Given the description of an element on the screen output the (x, y) to click on. 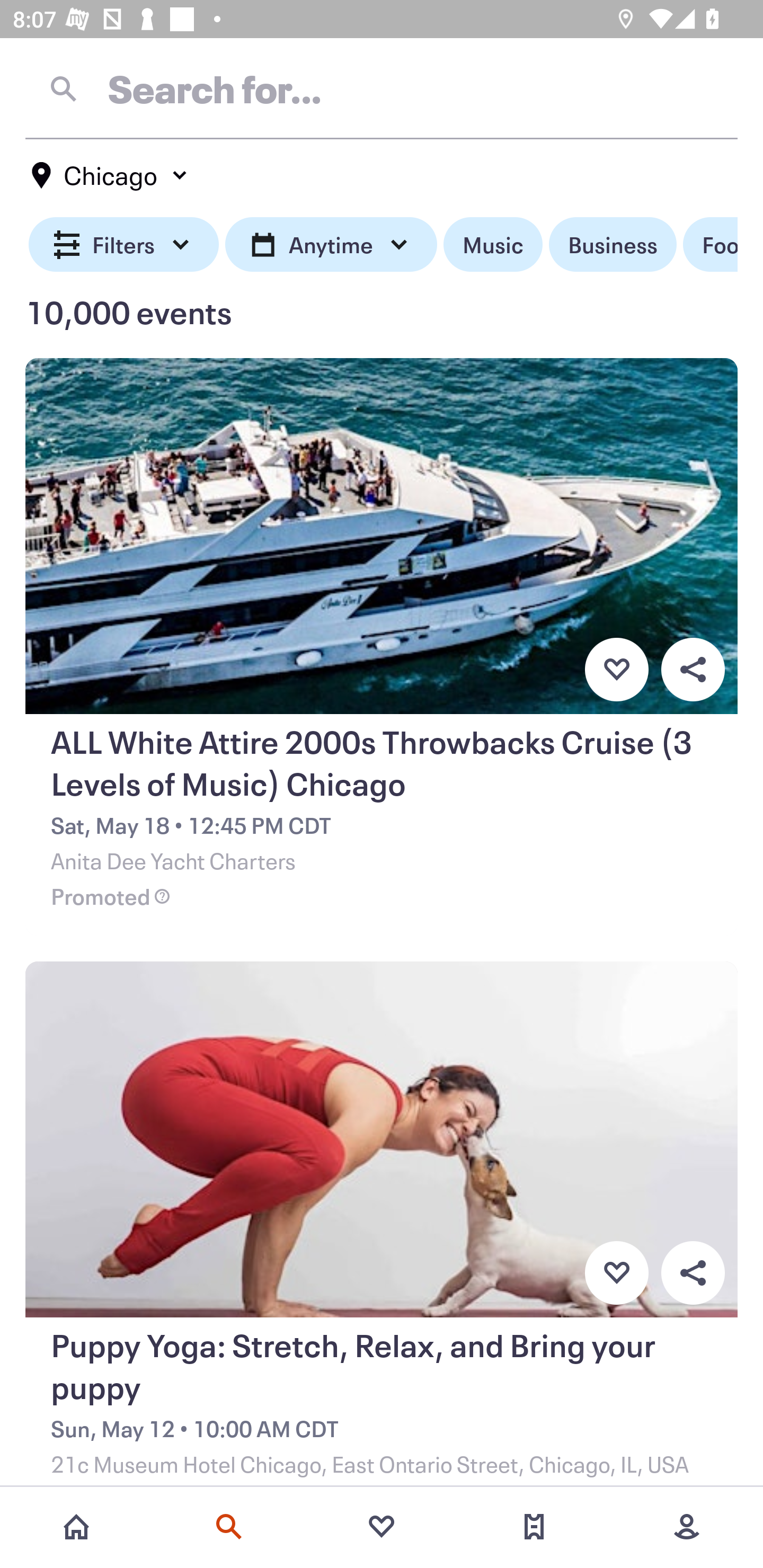
Search for… (381, 88)
Chicago (110, 175)
Filters (123, 244)
Anytime (331, 244)
Music (492, 244)
Business (612, 244)
Favorite button (616, 669)
Overflow menu button (692, 669)
Favorite button (616, 1272)
Overflow menu button (692, 1272)
Home (76, 1526)
Search events (228, 1526)
Favorites (381, 1526)
Tickets (533, 1526)
More (686, 1526)
